Given the description of an element on the screen output the (x, y) to click on. 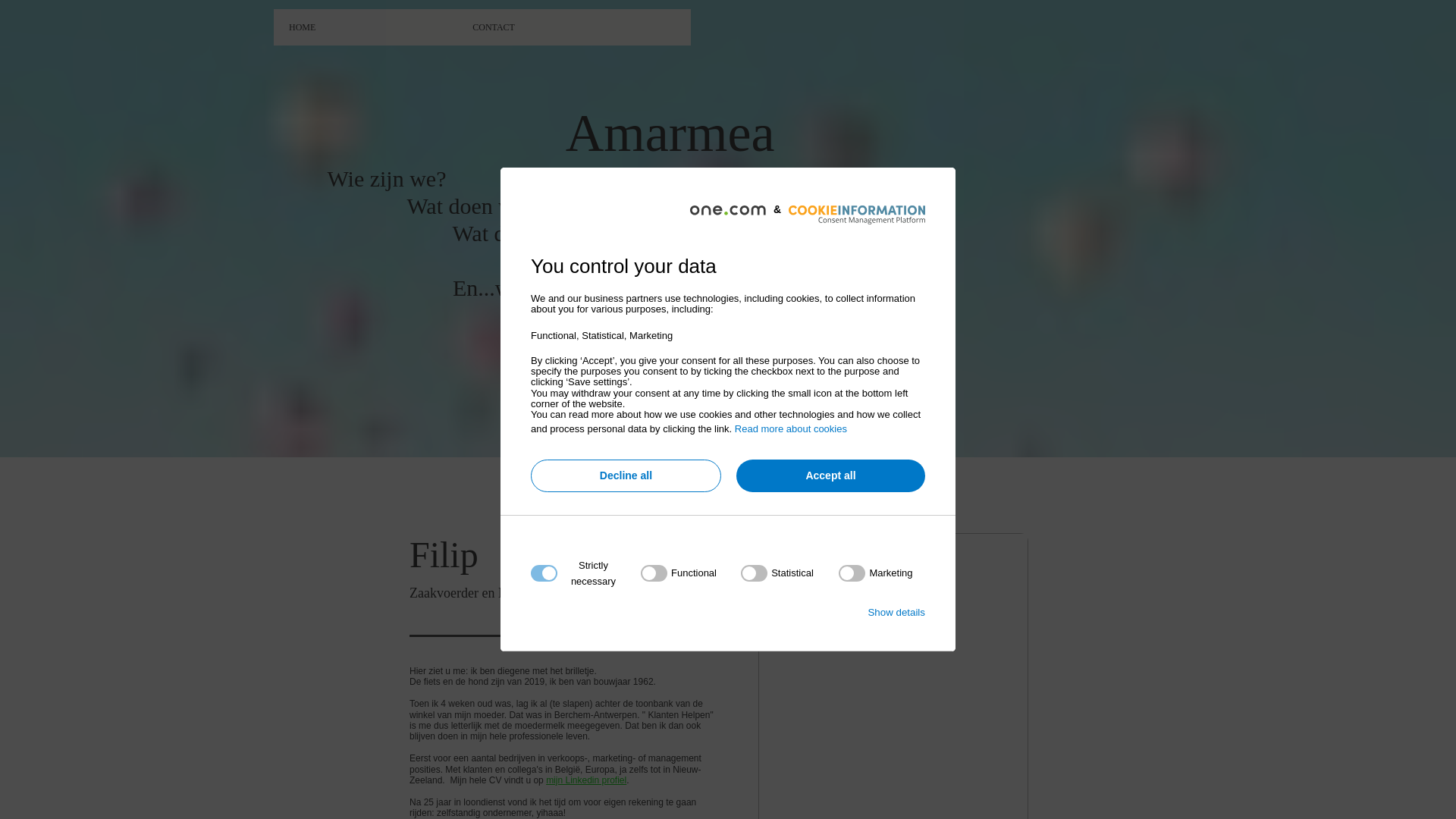
on Element type: text (776, 573)
Strictly necessary Element type: text (723, 665)
Accept all Element type: text (830, 475)
on Element type: text (678, 573)
Read more about cookies Element type: text (790, 428)
Functional Element type: text (723, 756)
on Element type: text (875, 573)
HOME Element type: text (365, 27)
mijn Linkedin profiel Element type: text (586, 780)
Show details Element type: text (896, 612)
CONTACT Element type: text (573, 27)
Decline all Element type: text (625, 475)
